Given the description of an element on the screen output the (x, y) to click on. 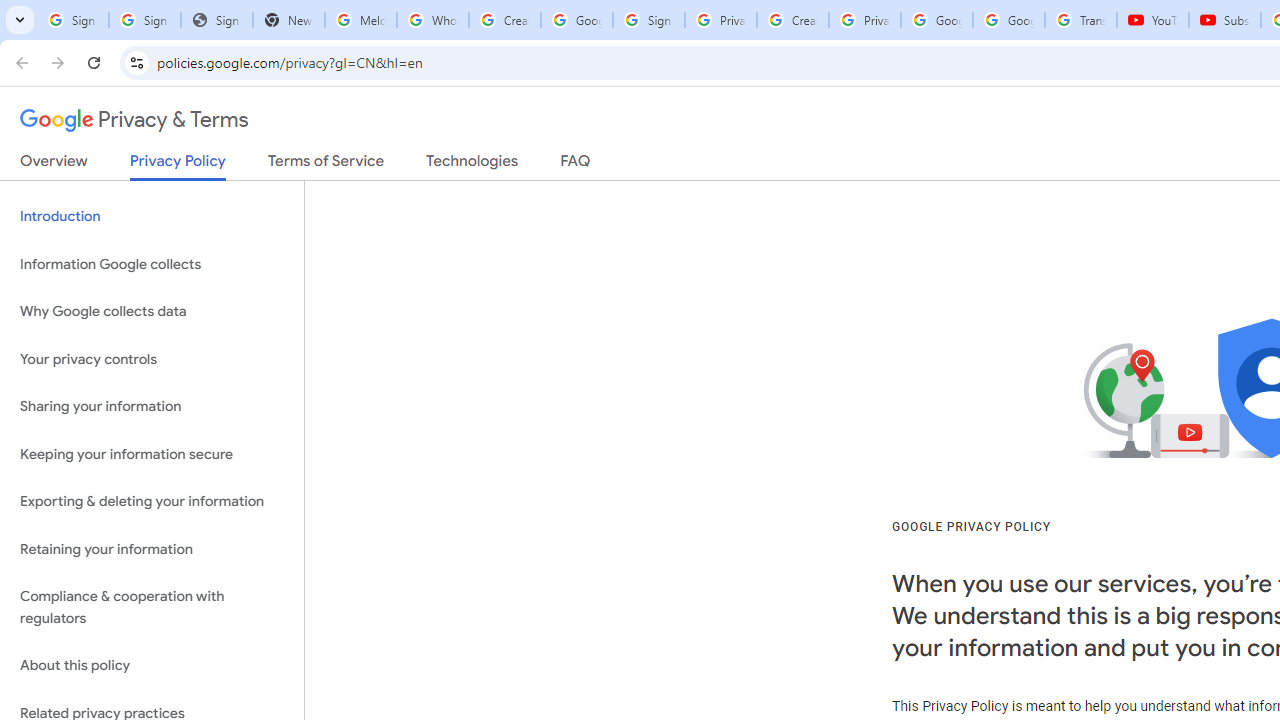
New Tab (289, 20)
Sign in - Google Accounts (648, 20)
